Given the description of an element on the screen output the (x, y) to click on. 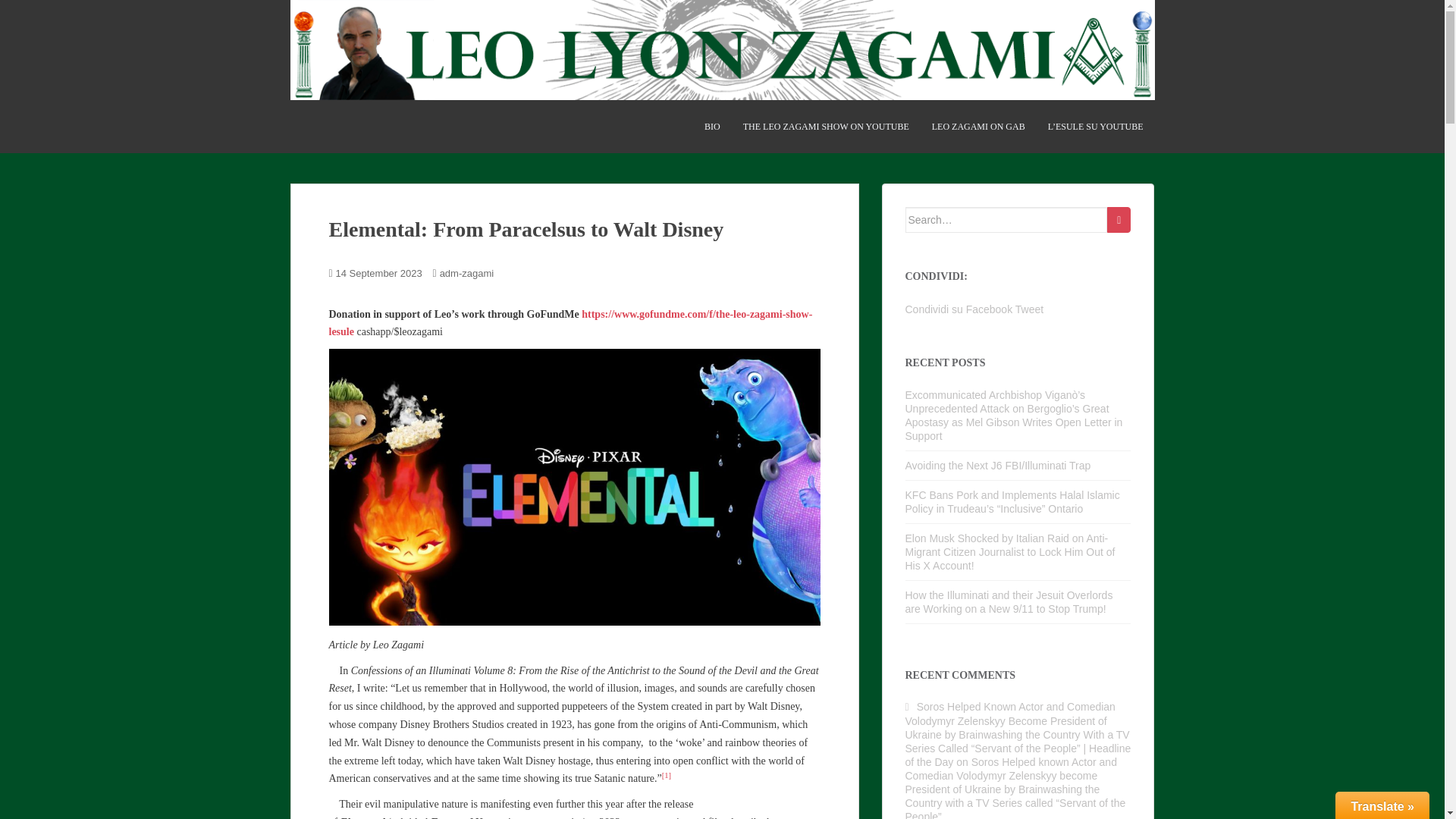
THE LEO ZAGAMI SHOW ON YOUTUBE (825, 126)
Condividi su Facebook (959, 309)
adm-zagami (467, 273)
THE LEO ZAGAMI SHOW (825, 126)
Search for: (1006, 219)
LEO ZAGAMI ON GAB (978, 126)
Tweet (1028, 309)
Search (1118, 219)
14 September 2023 (379, 273)
